Given the description of an element on the screen output the (x, y) to click on. 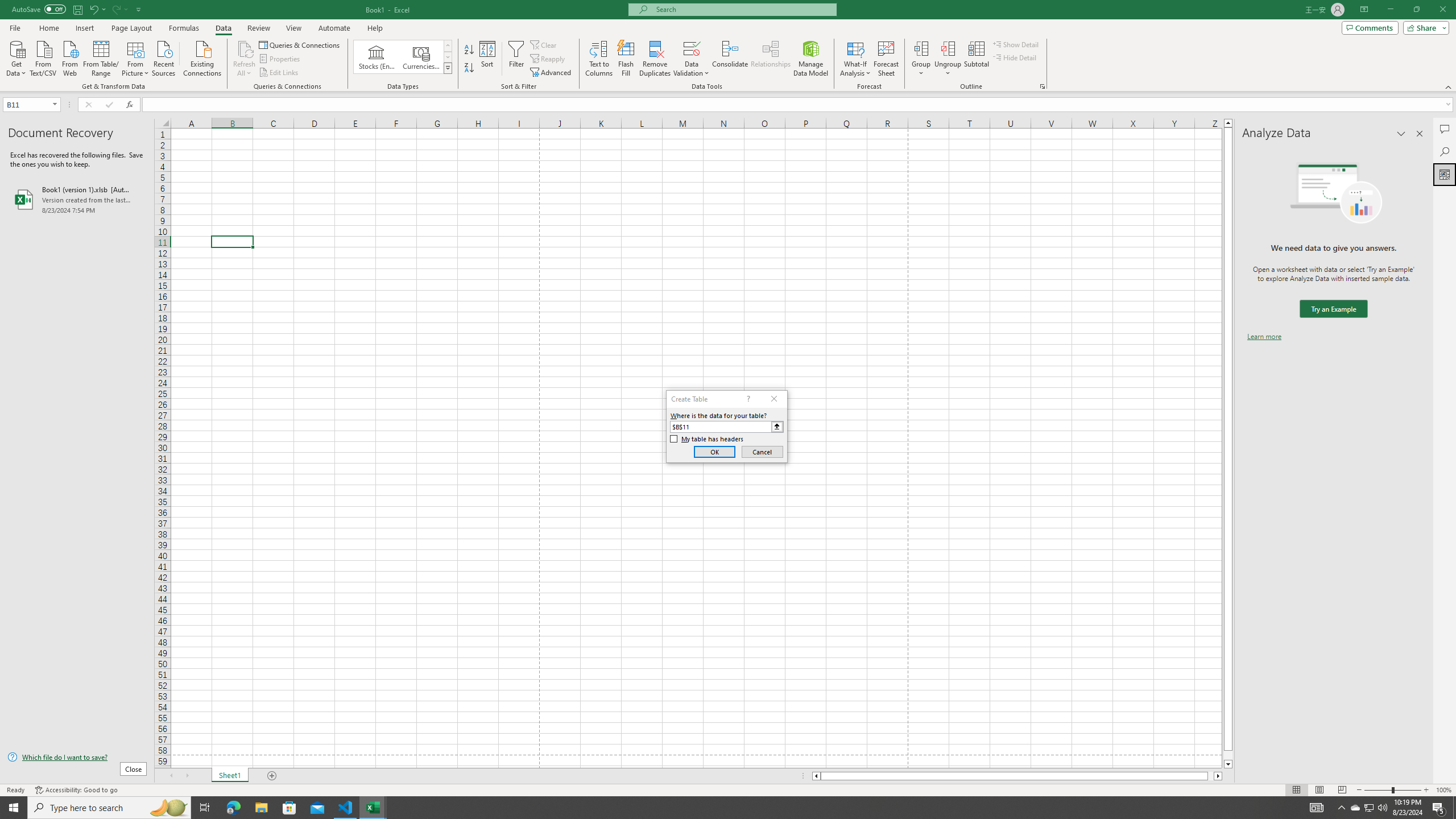
Home (48, 28)
Recent Sources (163, 57)
Add Sheet (272, 775)
Currencies (English) (420, 56)
Page right (1211, 775)
Formula Bar (799, 104)
Comments (1369, 27)
Sort... (487, 58)
Stocks (English) (375, 56)
Column left (815, 775)
Line up (1228, 122)
File Tab (15, 27)
Data Types (448, 67)
